Given the description of an element on the screen output the (x, y) to click on. 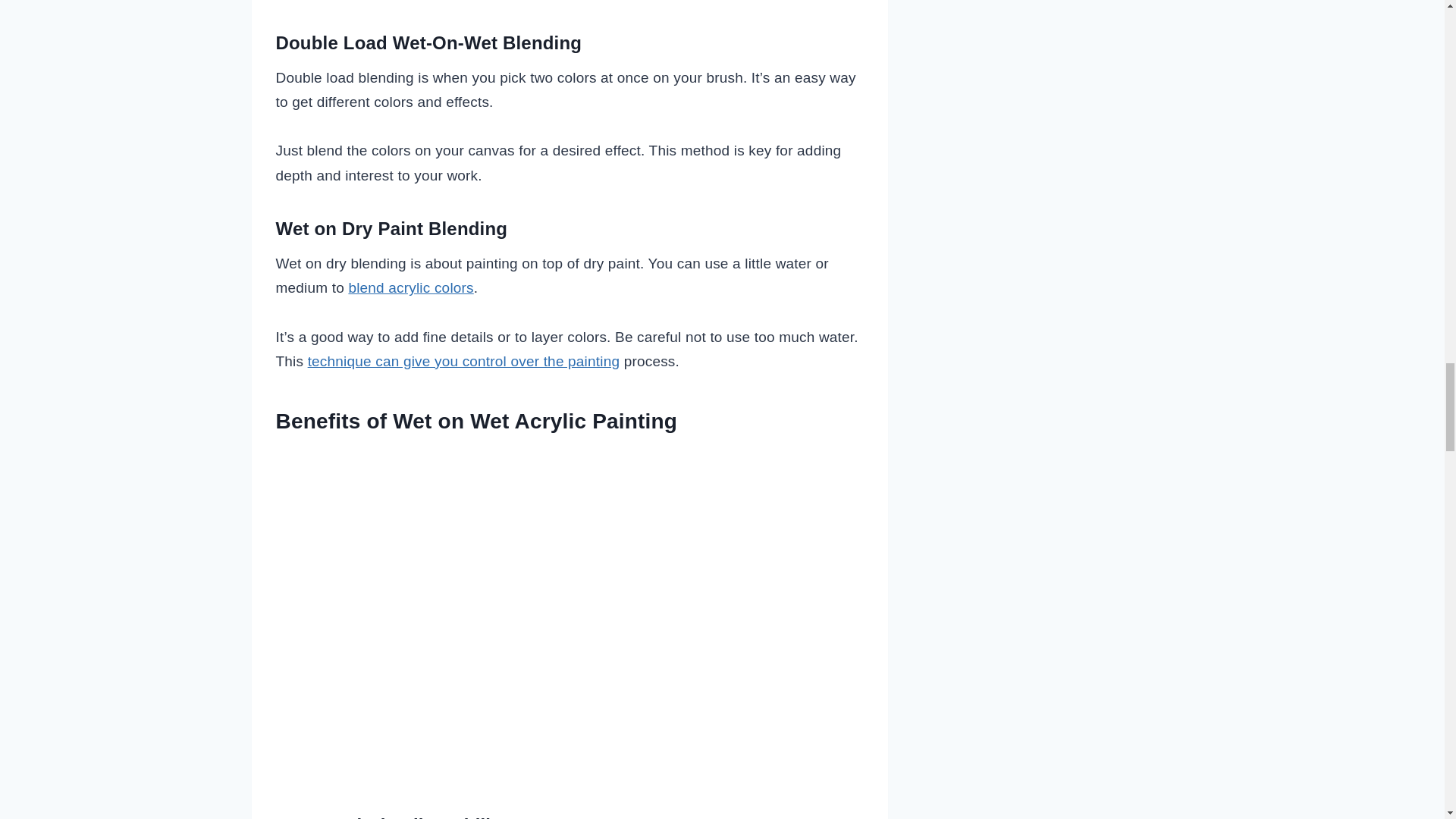
blend acrylic colors (410, 287)
technique can give you control over the painting (463, 360)
